Given the description of an element on the screen output the (x, y) to click on. 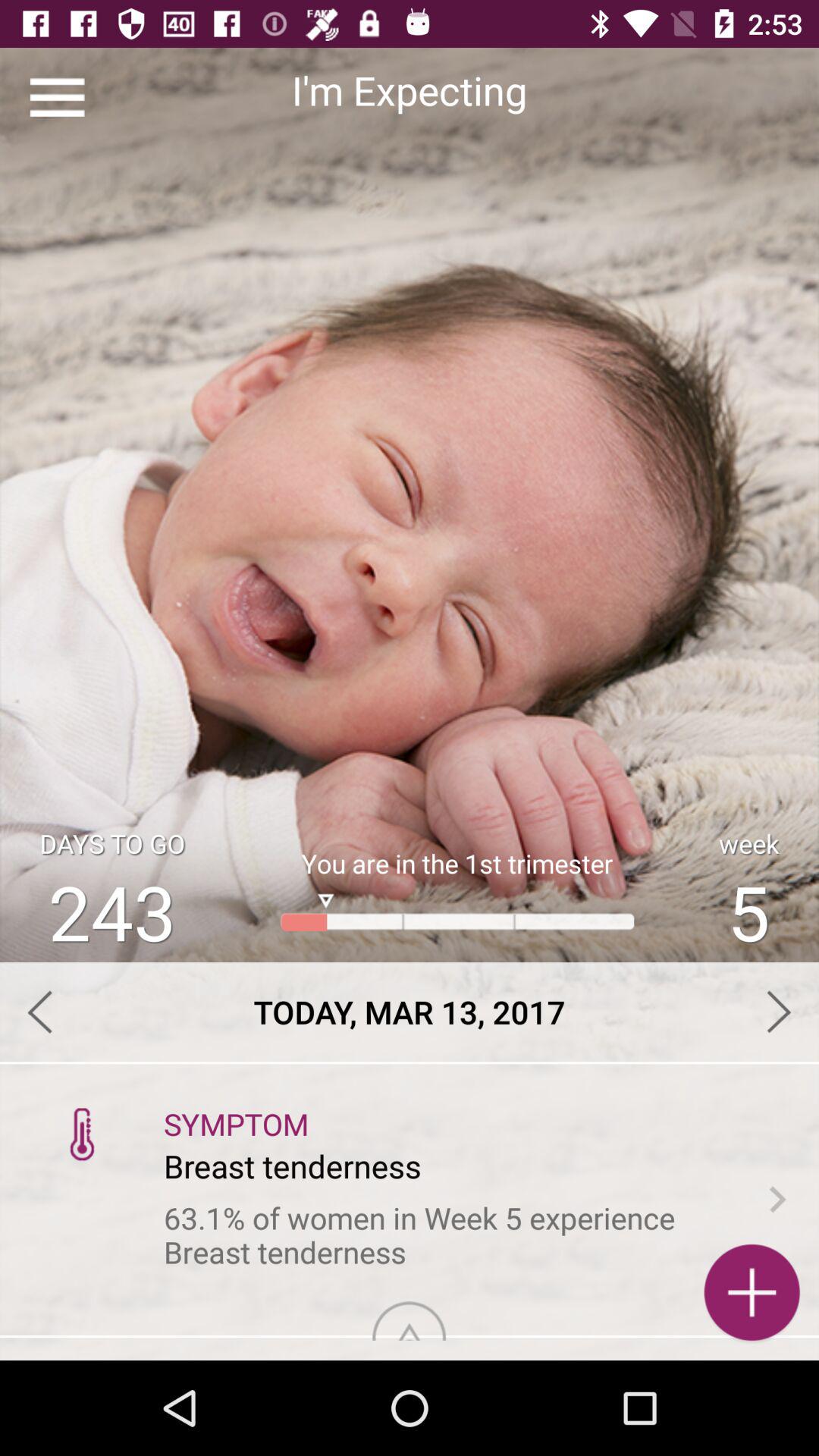
swipe to 63 1 of app (449, 1235)
